Given the description of an element on the screen output the (x, y) to click on. 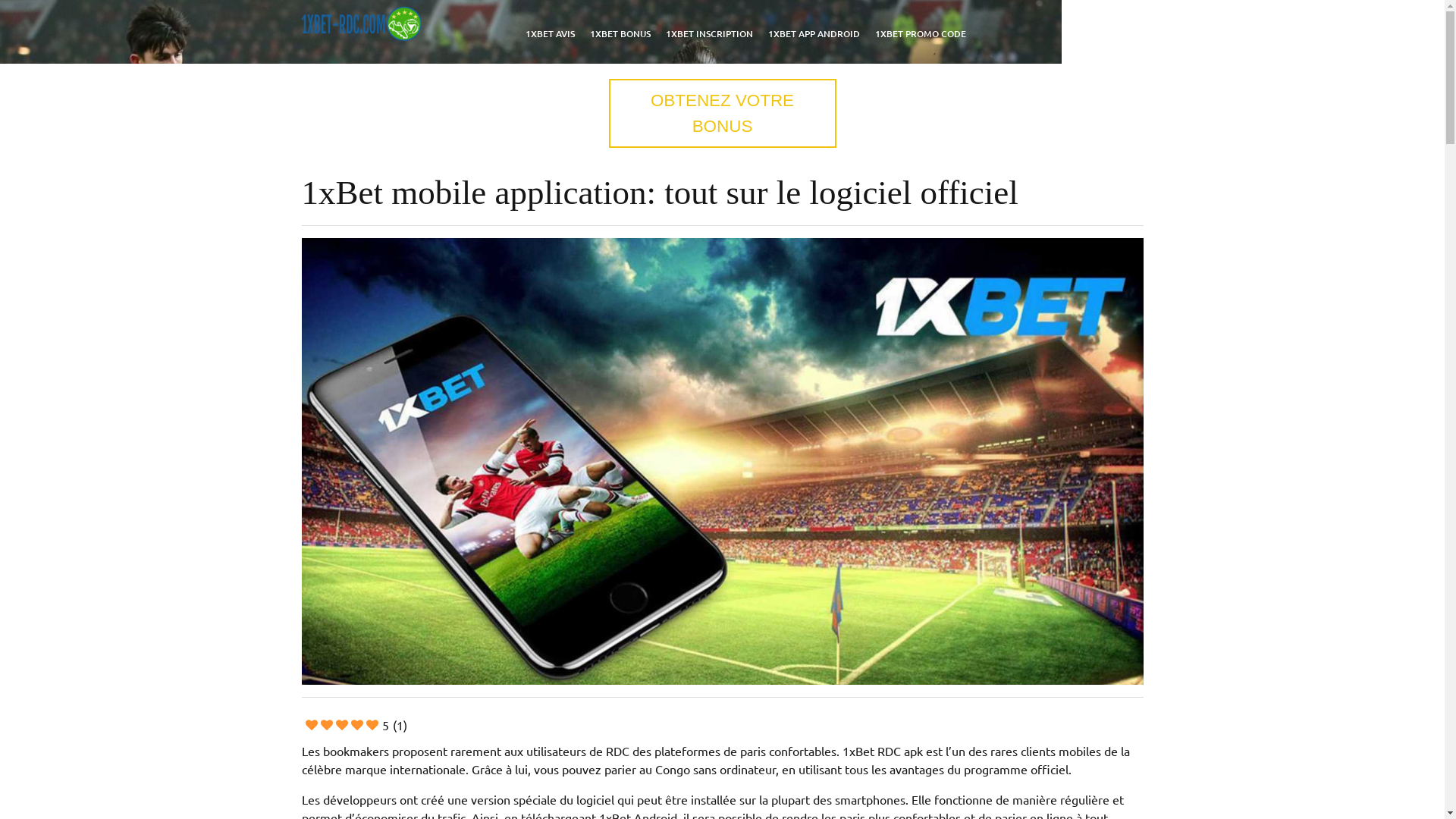
OBTENEZ VOTRE BONUS Element type: text (721, 112)
1XBET AVIS Element type: text (549, 33)
1xbet-rdc.com Element type: text (382, 60)
1XBET APP ANDROID Element type: text (812, 33)
1XBET BONUS Element type: text (620, 33)
1XBET PROMO CODE Element type: text (920, 33)
1XBET INSCRIPTION Element type: text (709, 33)
